Given the description of an element on the screen output the (x, y) to click on. 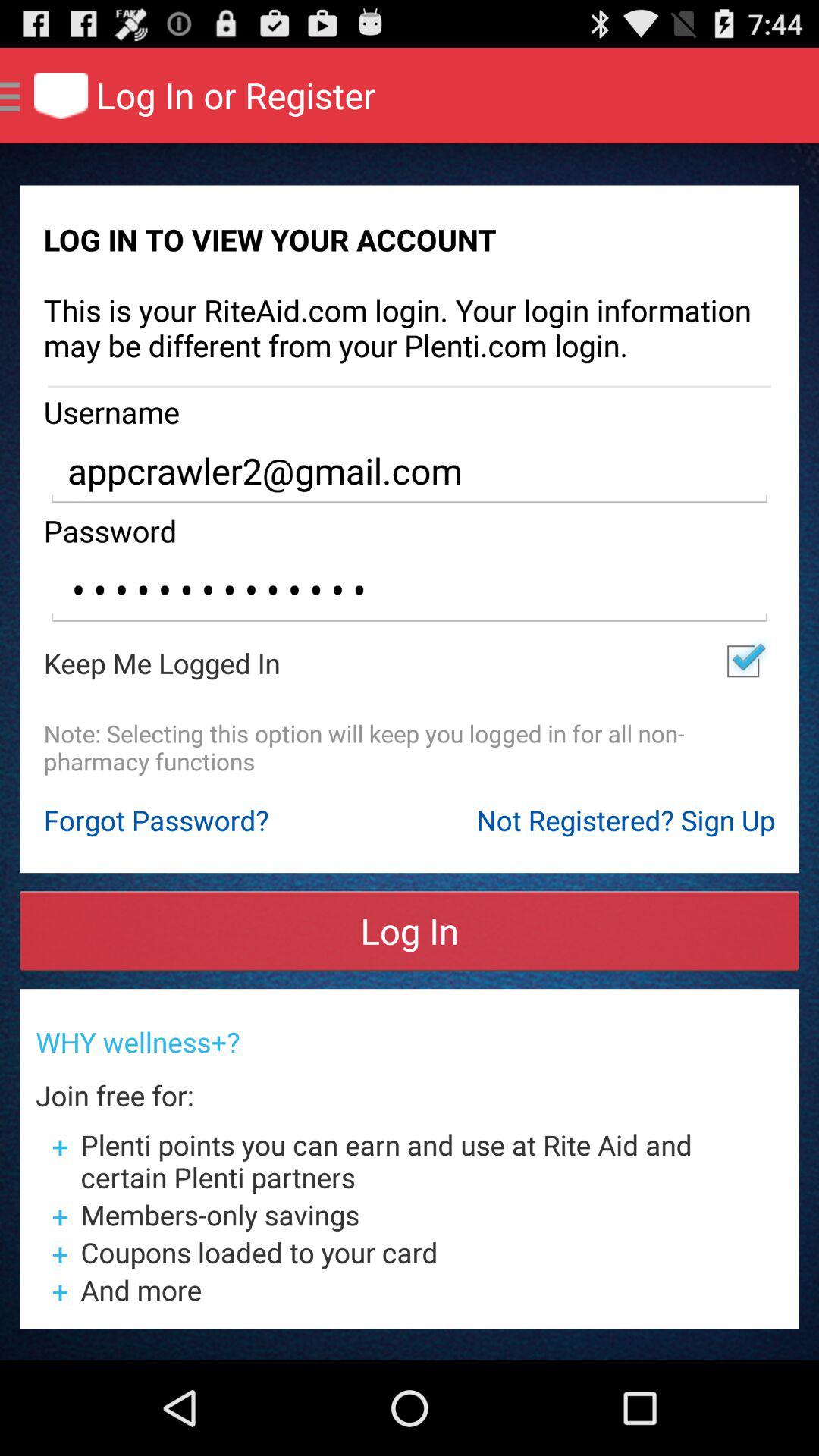
press the appcrawler3116 item (409, 590)
